Given the description of an element on the screen output the (x, y) to click on. 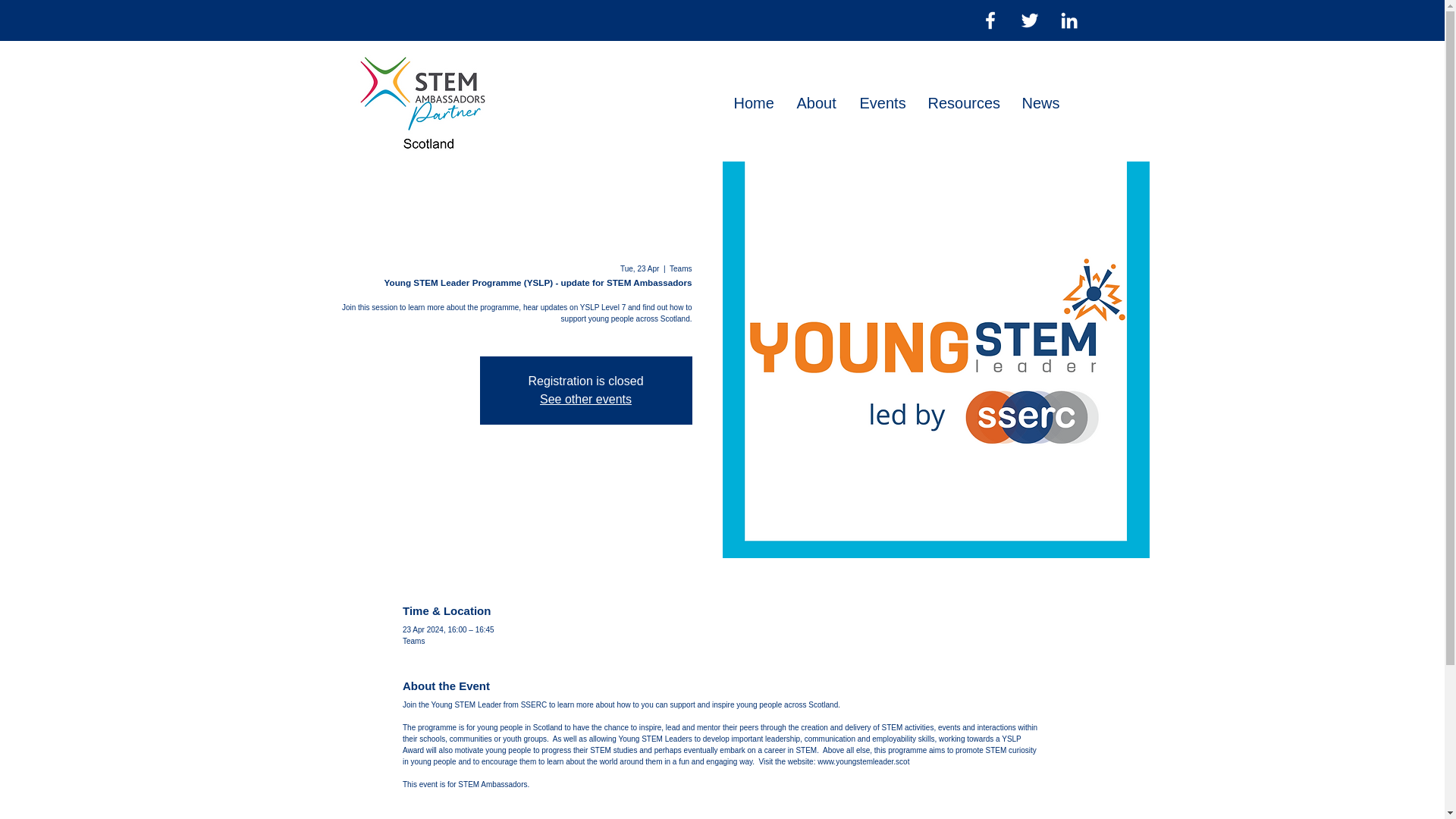
Resources (962, 103)
Home (753, 103)
See other events (585, 399)
News (1040, 103)
www.youngstemleader.scot (862, 760)
Events (881, 103)
About (817, 103)
